Given the description of an element on the screen output the (x, y) to click on. 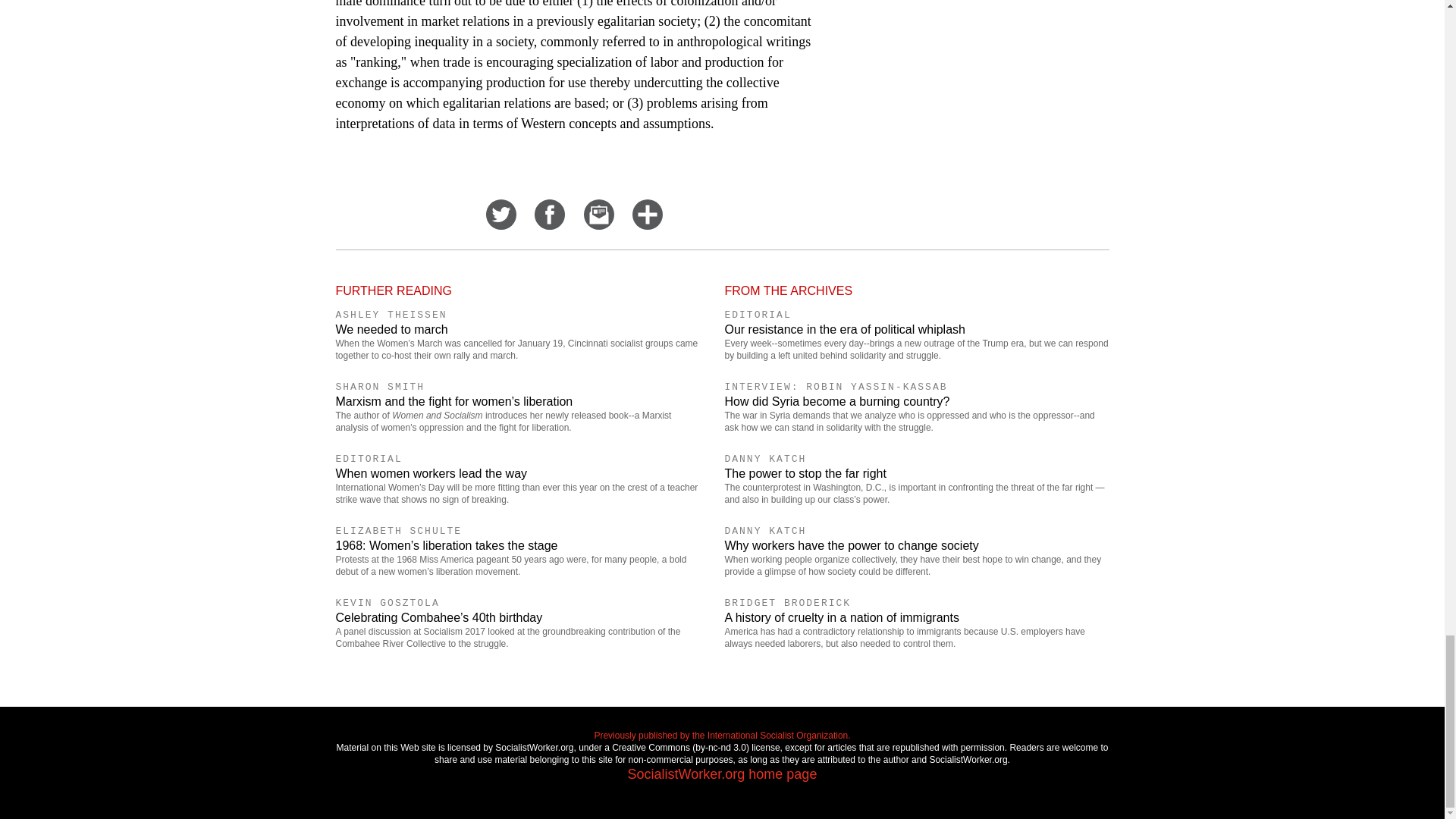
Share on Twitter (501, 224)
Click for more options (646, 224)
Share on Facebook (549, 224)
Email this story (598, 224)
